Given the description of an element on the screen output the (x, y) to click on. 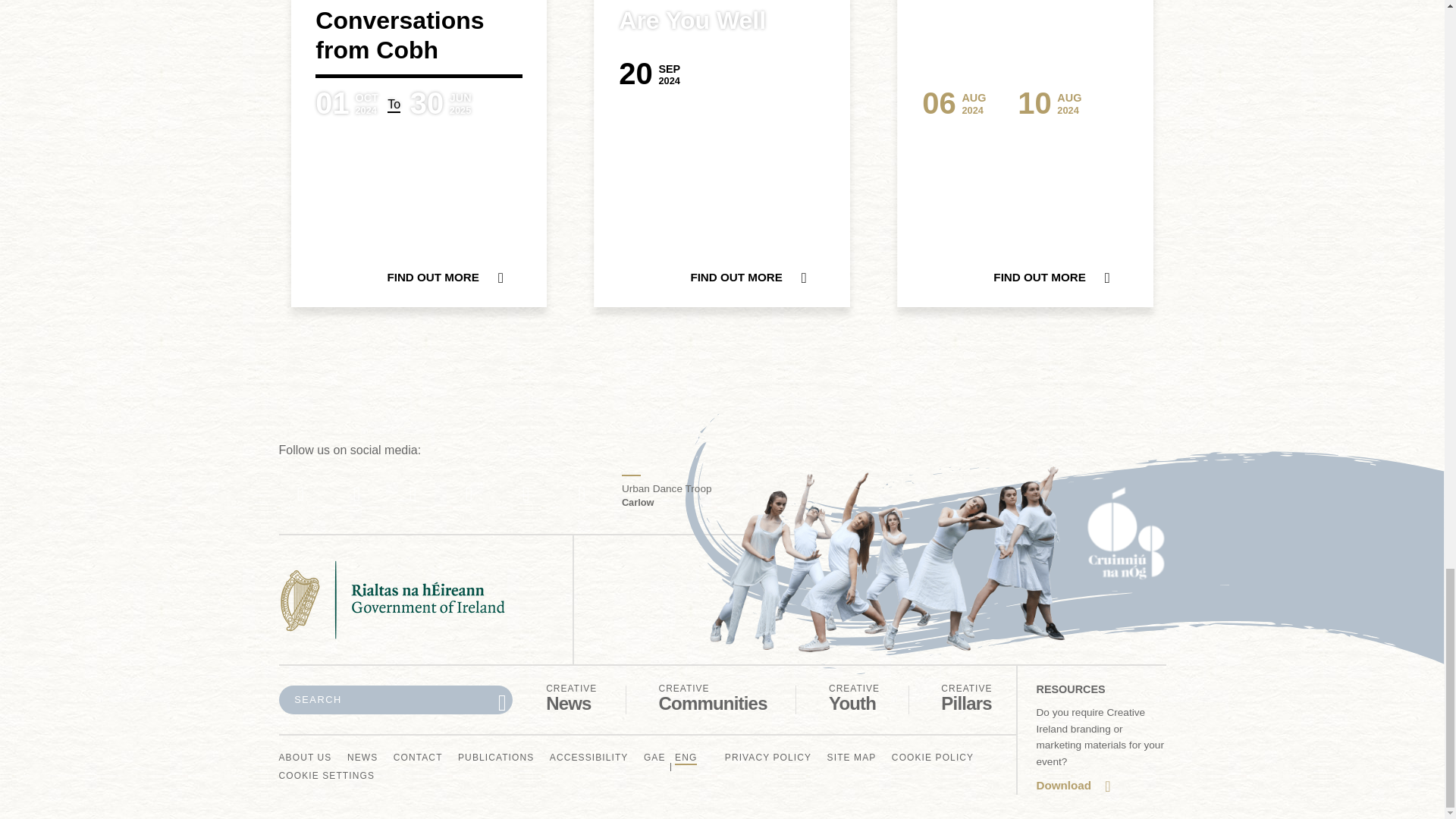
Gaeilge (654, 758)
Instagram (468, 493)
Twitter (412, 493)
Soundcloud (853, 698)
Facebook (571, 698)
Soundcloud (582, 493)
Youtube (300, 493)
